Given the description of an element on the screen output the (x, y) to click on. 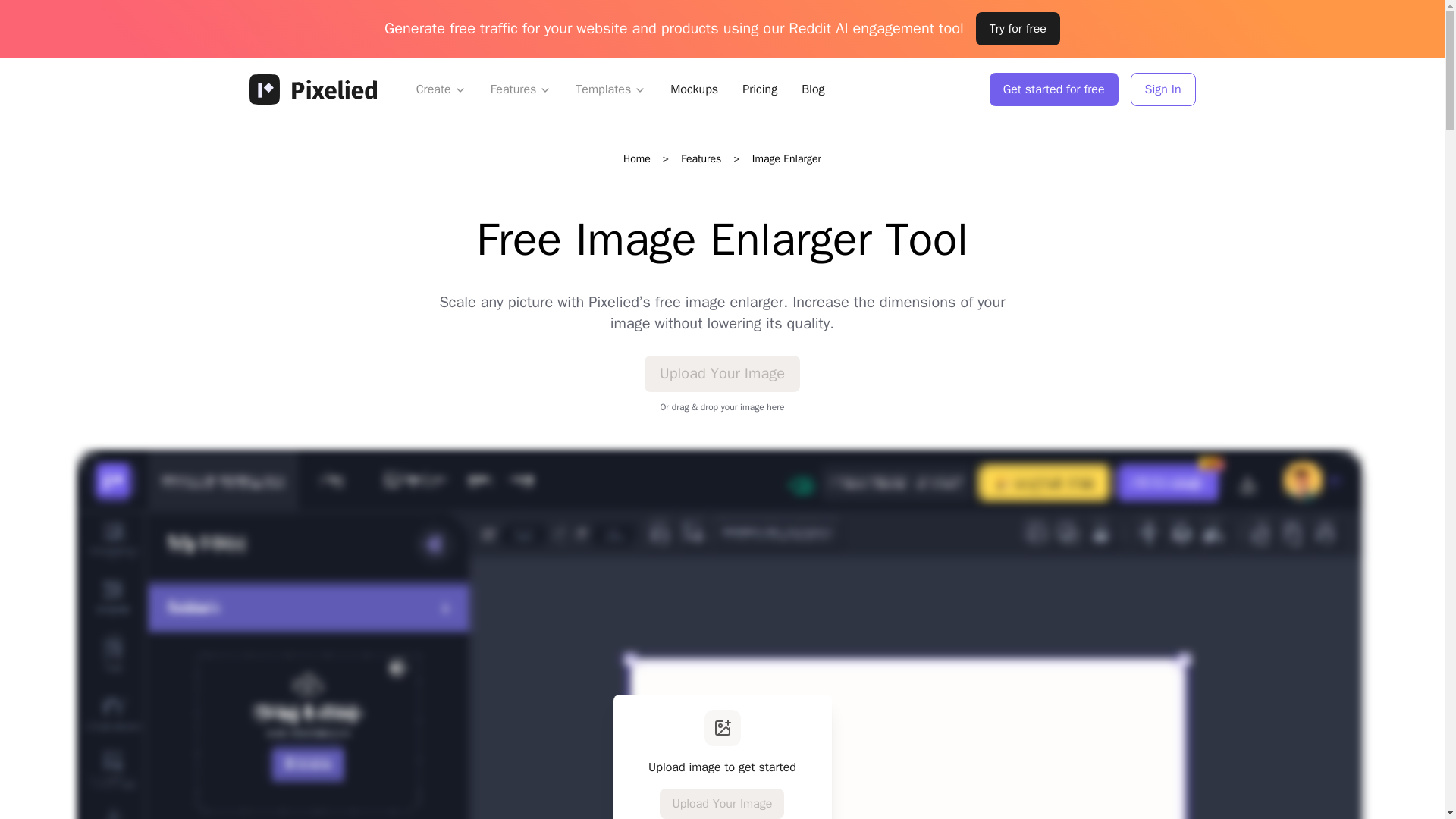
Upload Your Image (722, 373)
Templates (610, 89)
Create (441, 89)
Features (513, 89)
Upload Your Image (721, 803)
Get started for free (1054, 89)
Features (520, 89)
Sign In (1163, 89)
Blog (812, 89)
Pricing (759, 89)
Create (433, 89)
Home (636, 158)
Features (700, 158)
Templates (602, 89)
Mockups (693, 89)
